Given the description of an element on the screen output the (x, y) to click on. 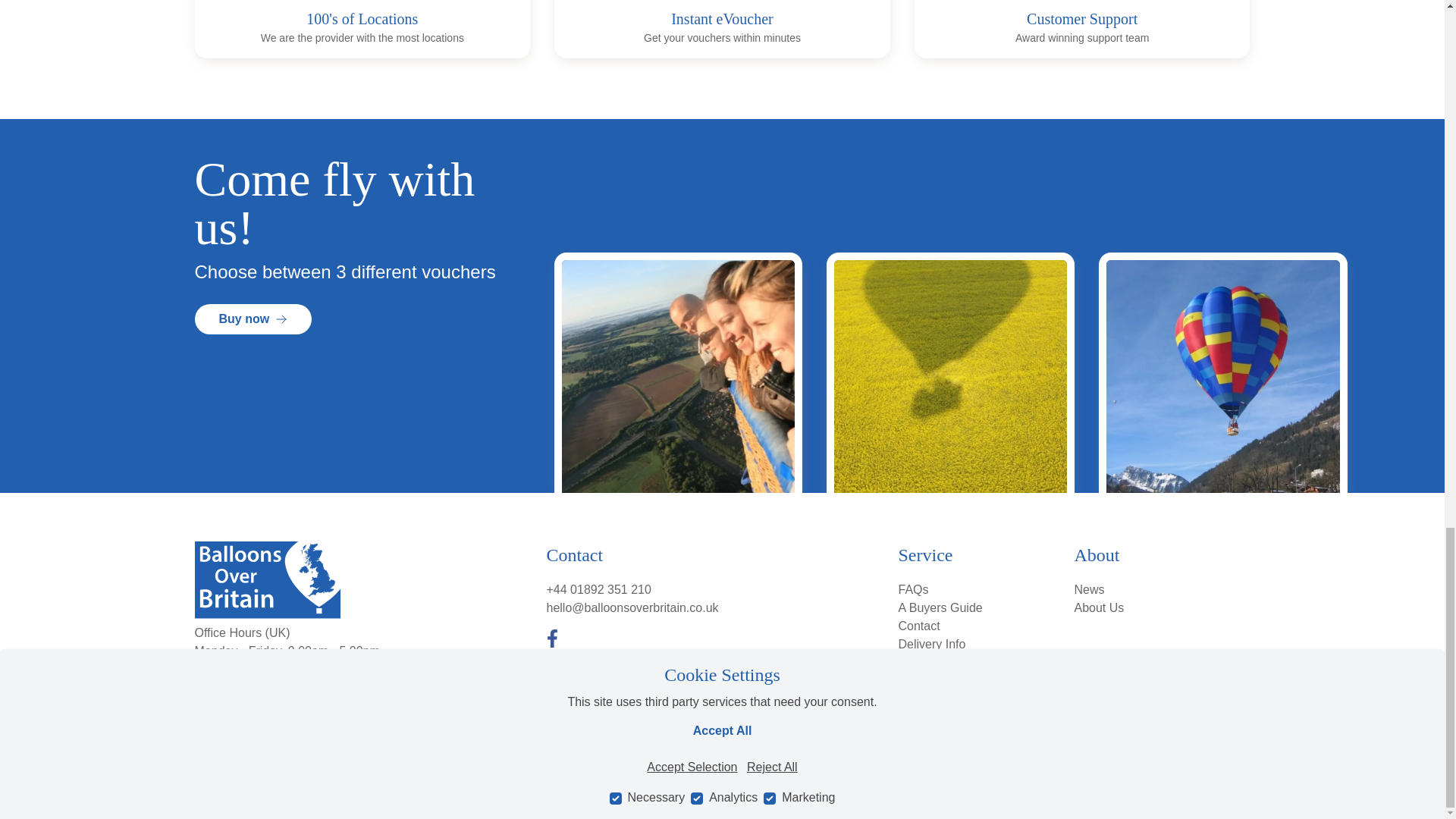
Privacy Policy (1140, 745)
Contact (918, 625)
News (1088, 589)
Buy now (252, 318)
About Us (1099, 607)
FAQs (913, 589)
Delivery Info (931, 644)
A Buyers Guide (939, 607)
Cookie Policy (1218, 745)
